Given the description of an element on the screen output the (x, y) to click on. 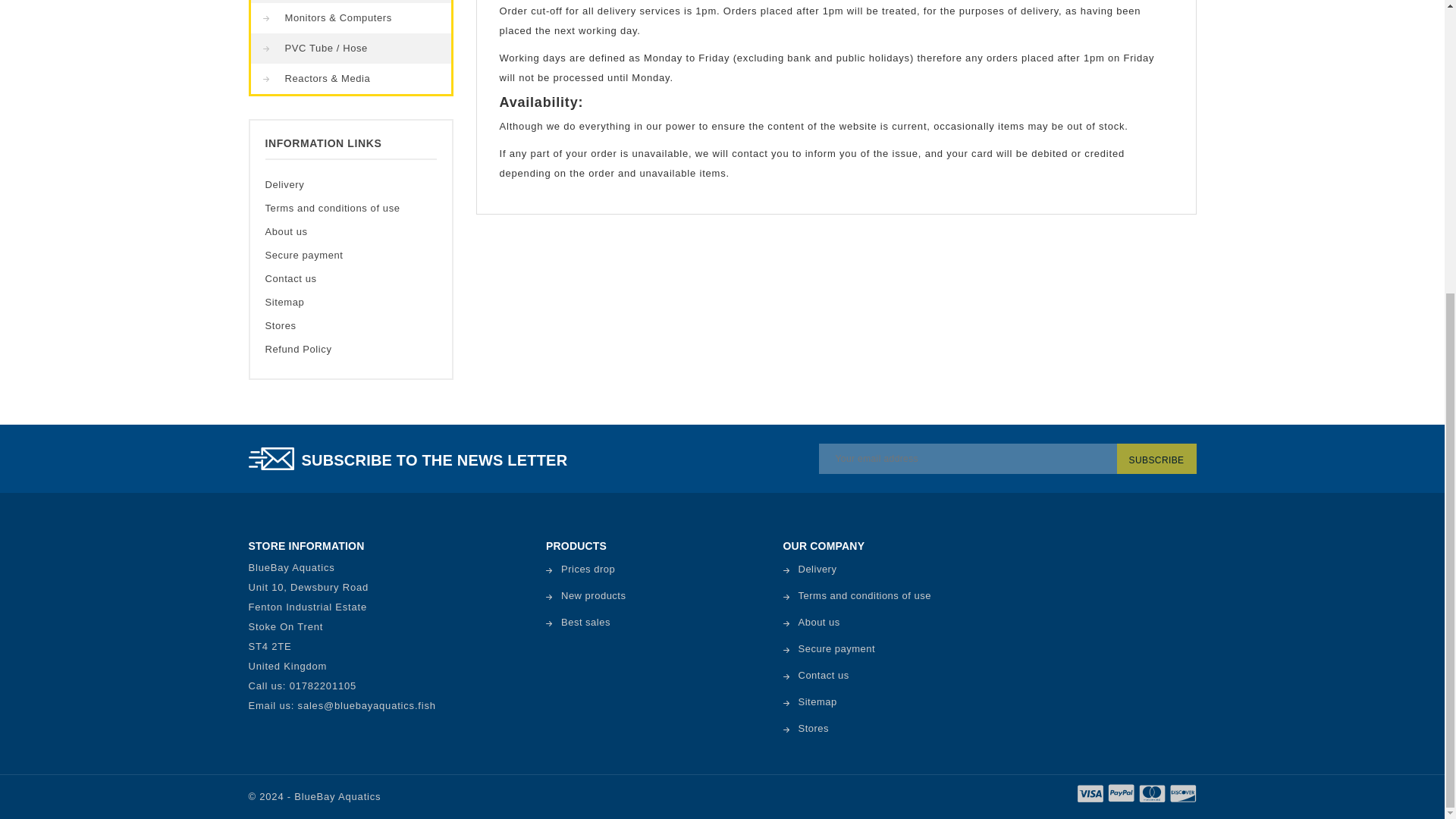
Our new products (586, 595)
Information Links (322, 143)
Our best sales (578, 622)
Delivery (284, 184)
Sitemap (284, 301)
Terms and conditions of use (332, 207)
Maintenance (349, 1)
Contact us (290, 278)
Stores (280, 325)
About us (285, 231)
